Given the description of an element on the screen output the (x, y) to click on. 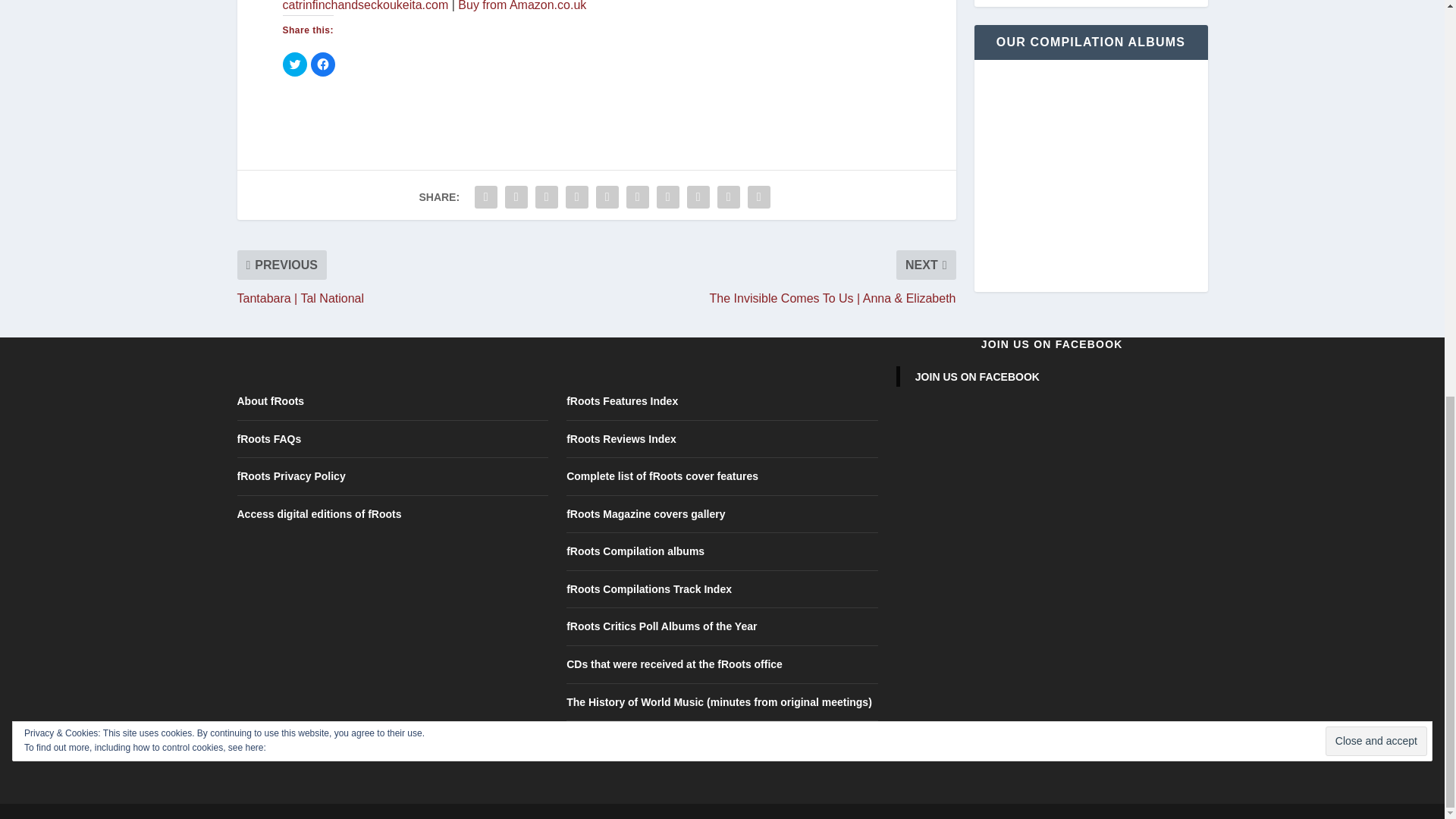
fRoots Reviews Index (621, 439)
About fRoots (269, 400)
fRoots Features Index (622, 400)
fRoots Privacy Policy (290, 476)
fRoots FAQs (268, 439)
Access digital editions of fRoots (318, 513)
fRoots Magazine covers gallery (645, 513)
Buy from Amazon.co.uk (522, 5)
catrinfinchandseckoukeita.com (365, 5)
Click to share on Twitter (293, 64)
